Given the description of an element on the screen output the (x, y) to click on. 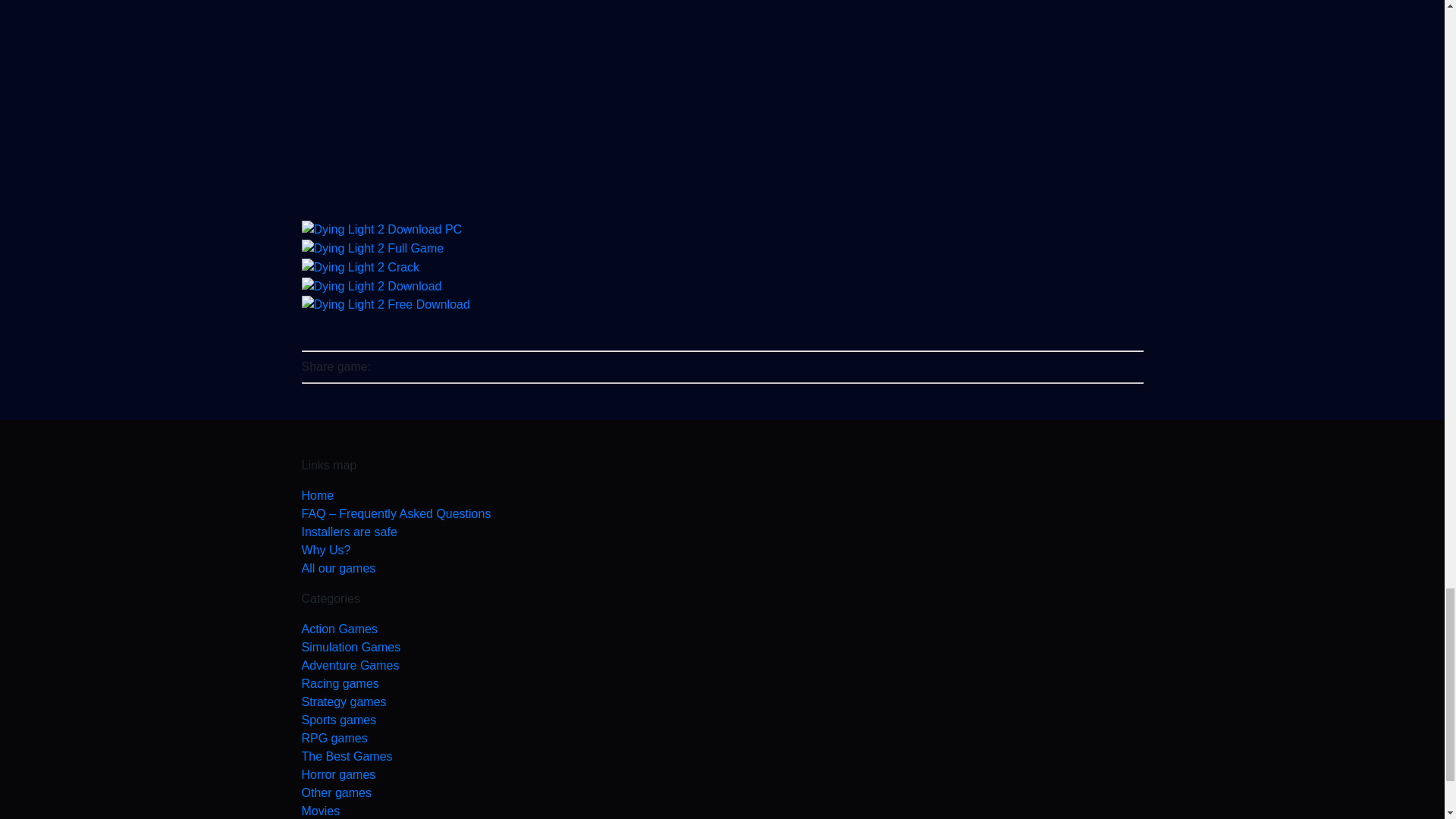
Racing games (721, 683)
YouTube video player (721, 101)
Action Games (721, 628)
Simulation Games (721, 647)
Adventure Games (721, 665)
Why Us? (721, 550)
All our games (721, 568)
Installers are safe (721, 532)
Sports games (721, 720)
RPG games (721, 738)
Strategy games (721, 701)
Home (721, 495)
